Given the description of an element on the screen output the (x, y) to click on. 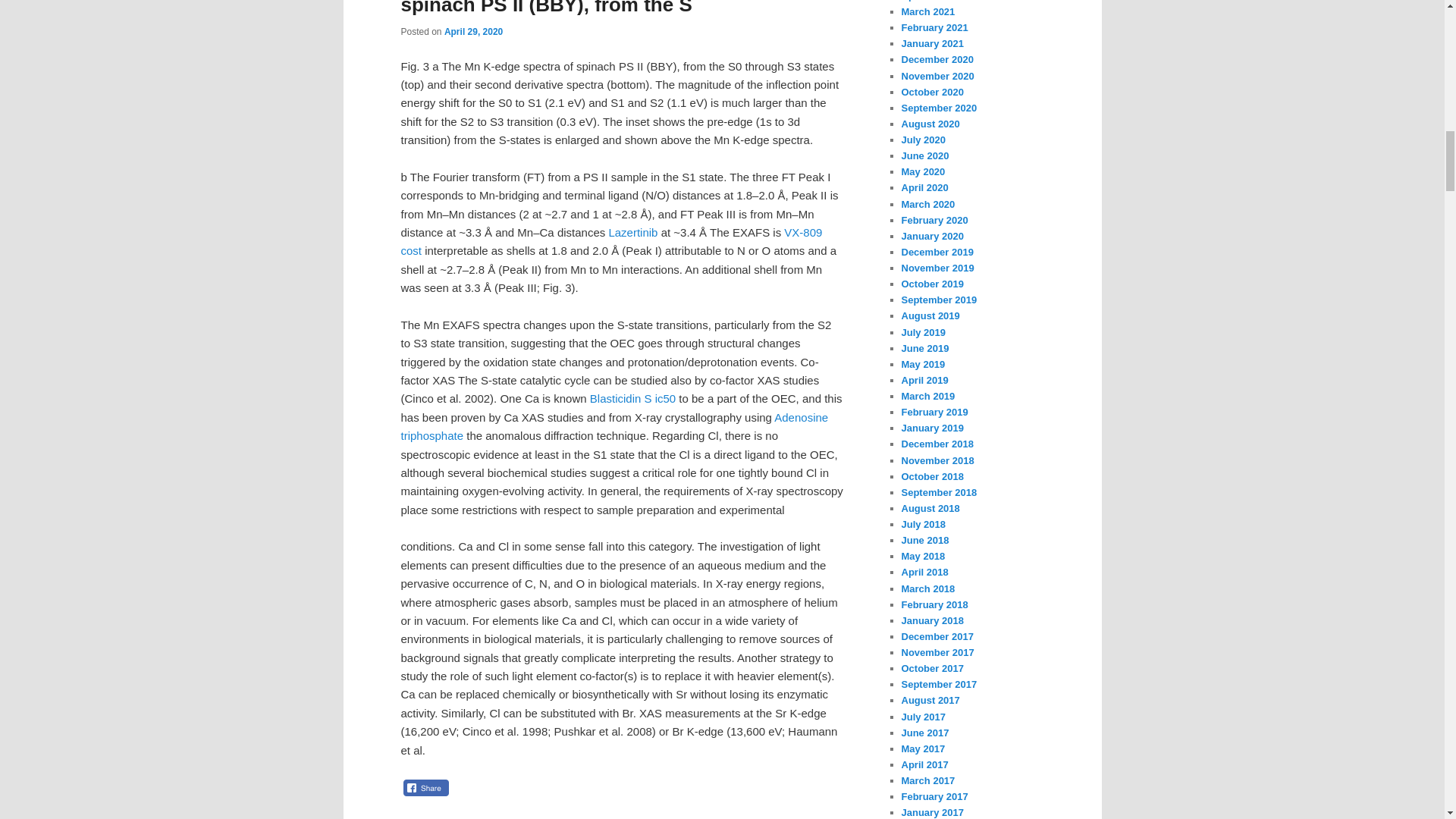
VX-809 cost (611, 241)
9:48 am (473, 31)
Adenosine triphosphate (614, 426)
Lazertinib (633, 232)
April 29, 2020 (473, 31)
Blasticidin S ic50 (632, 398)
